Given the description of an element on the screen output the (x, y) to click on. 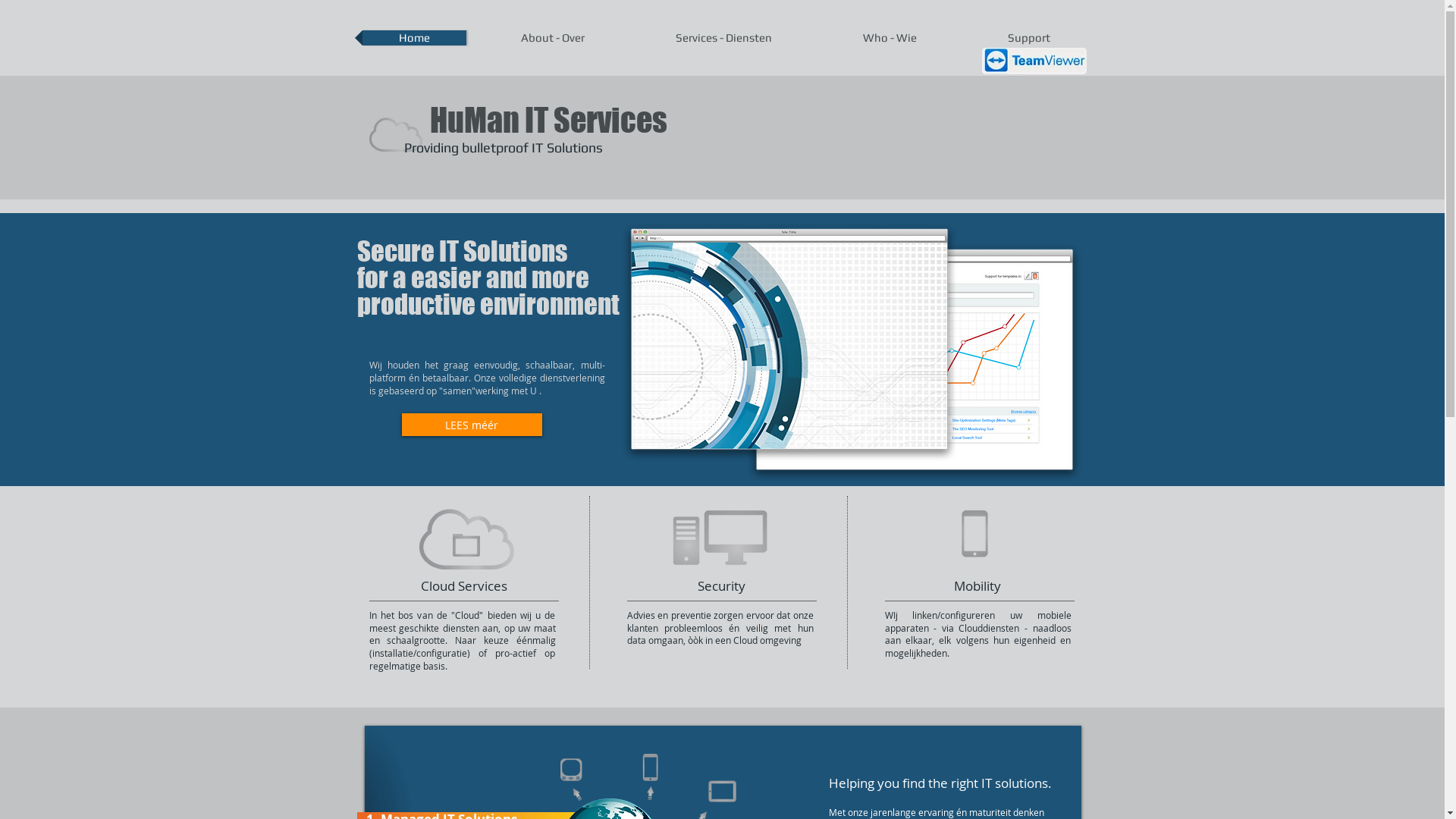
Services - Diensten Element type: text (723, 37)
Who - Wie Element type: text (889, 37)
About - Over Element type: text (552, 37)
Home Element type: text (413, 37)
Support Element type: text (1029, 37)
